Given the description of an element on the screen output the (x, y) to click on. 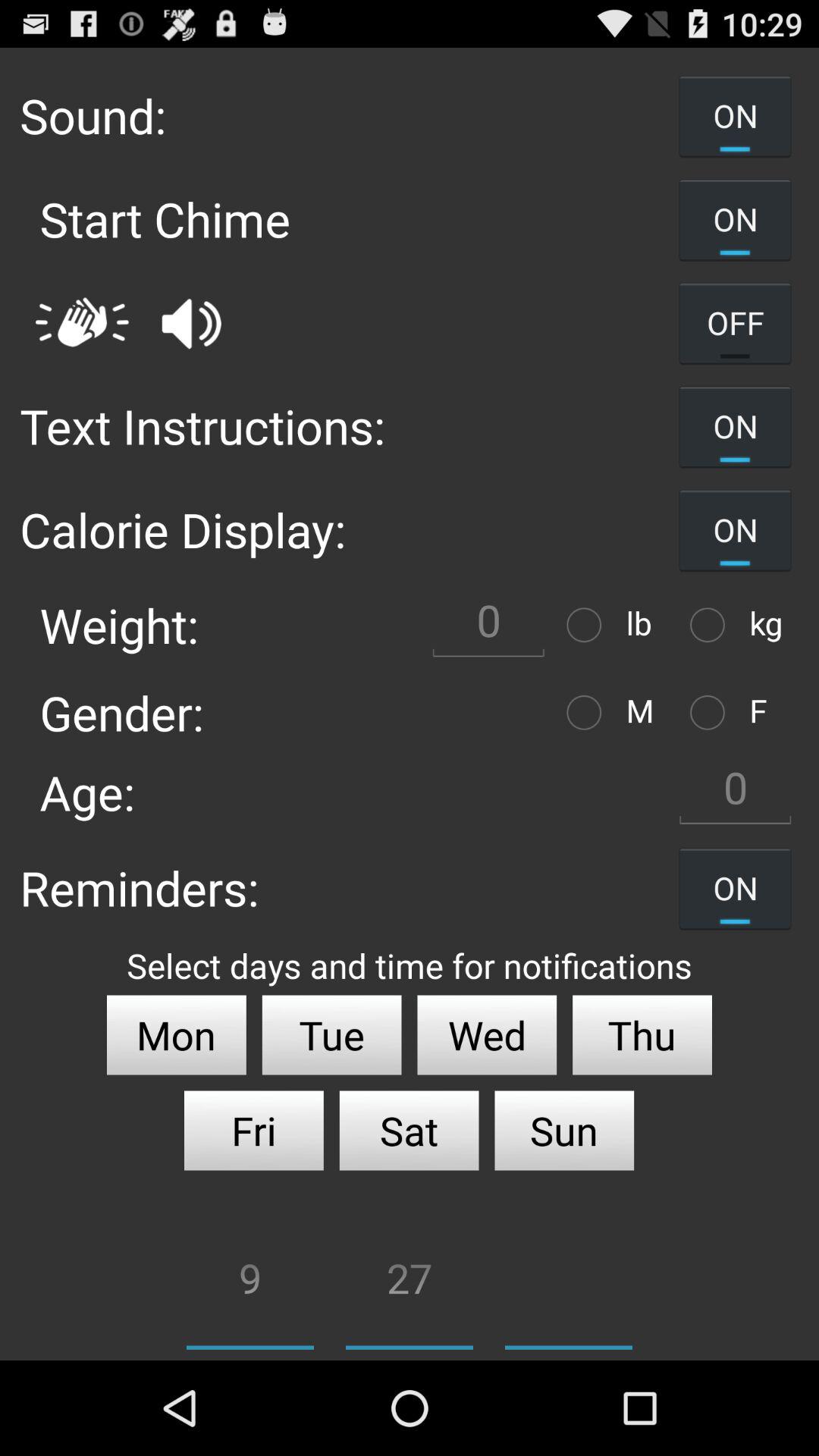
select pounds (587, 624)
